Given the description of an element on the screen output the (x, y) to click on. 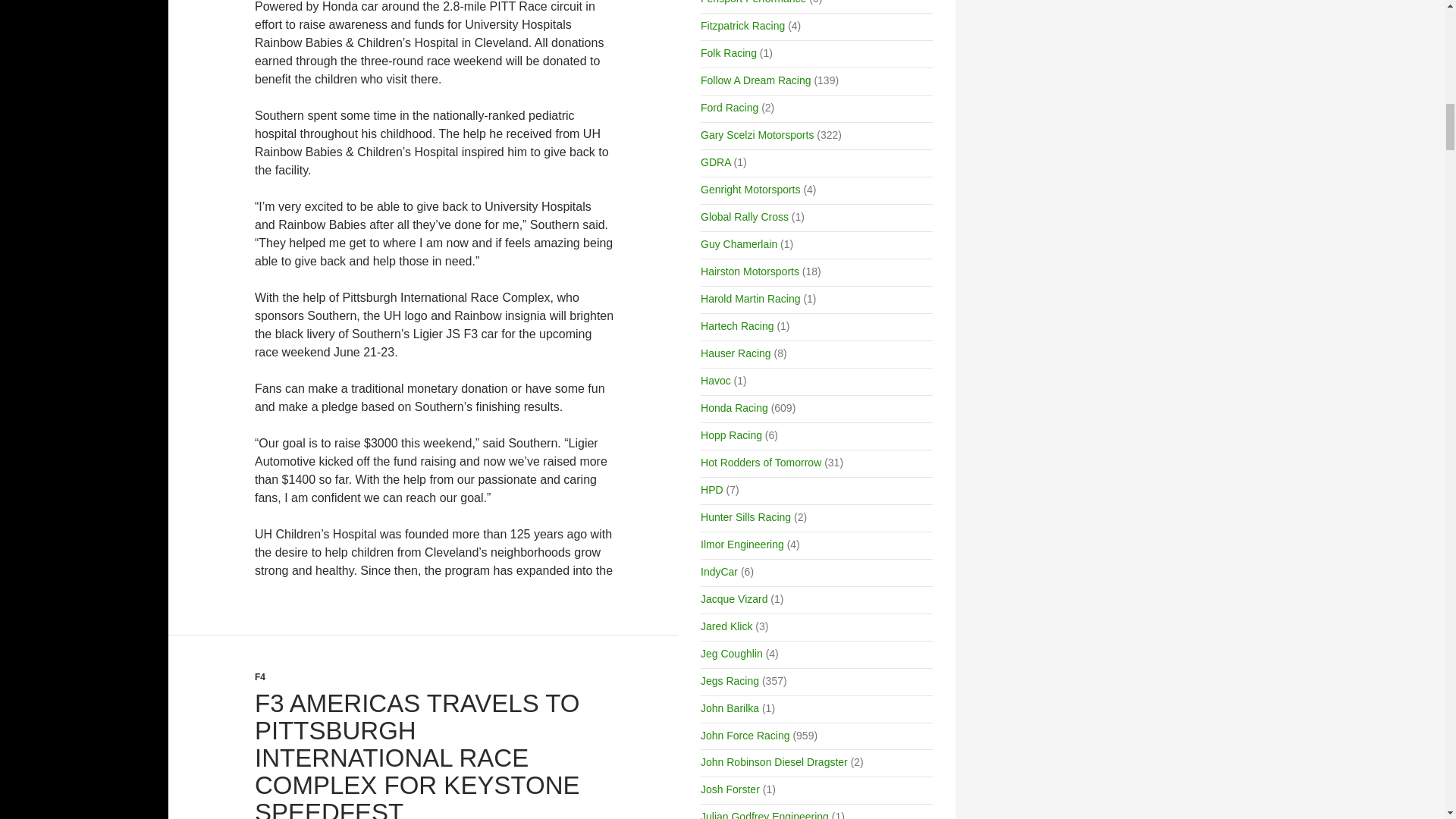
F4 (259, 676)
